Given the description of an element on the screen output the (x, y) to click on. 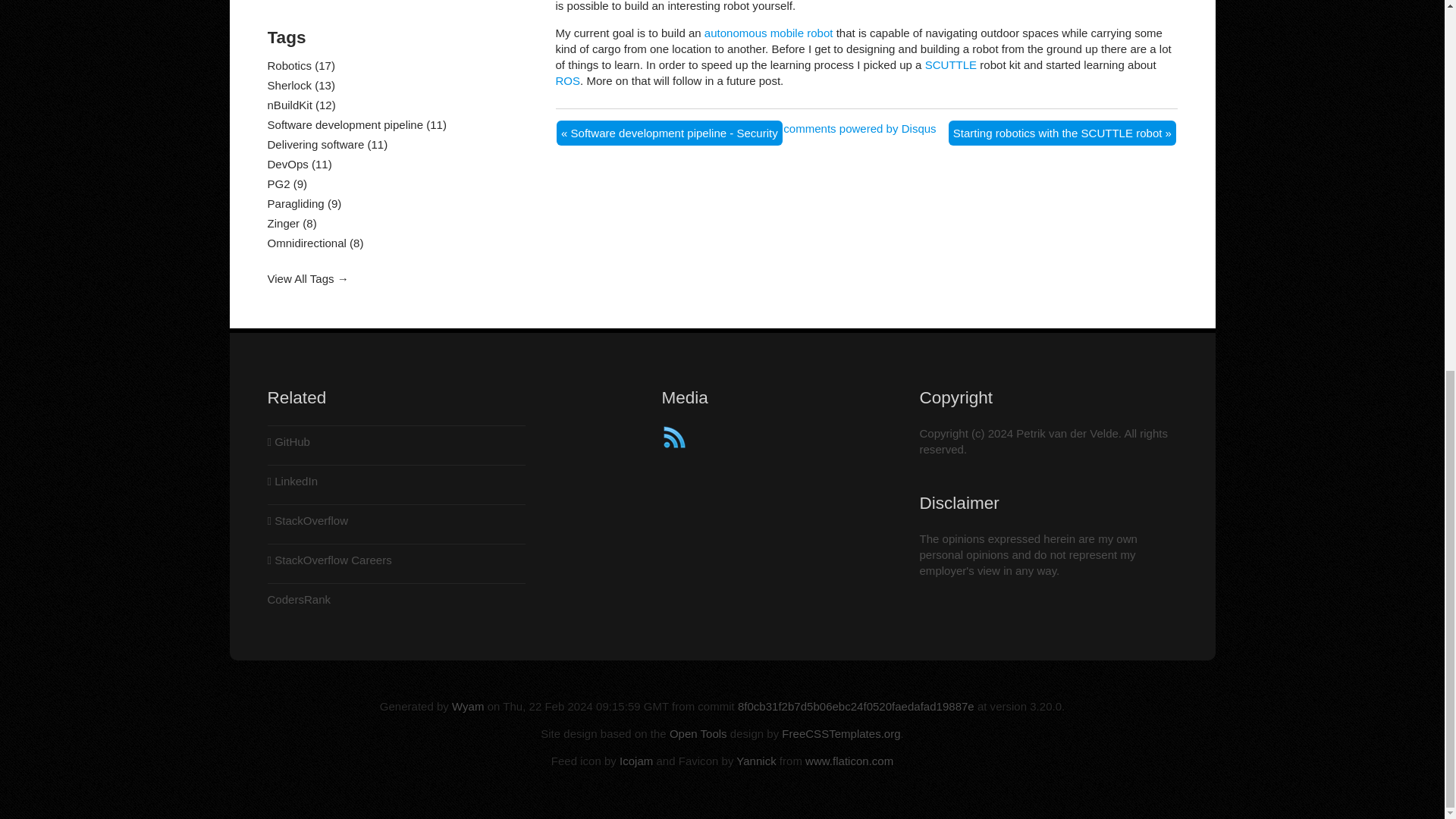
Previous Post: Software development pipeline - Security (669, 132)
comments powered by Disqus (859, 128)
Next Post: Starting robotics with the SCUTTLE robot (1062, 132)
Flaticon (849, 760)
autonomous mobile robot (768, 32)
GitHub (287, 440)
ROS (566, 80)
SCUTTLE (950, 64)
Yannick (756, 760)
